Given the description of an element on the screen output the (x, y) to click on. 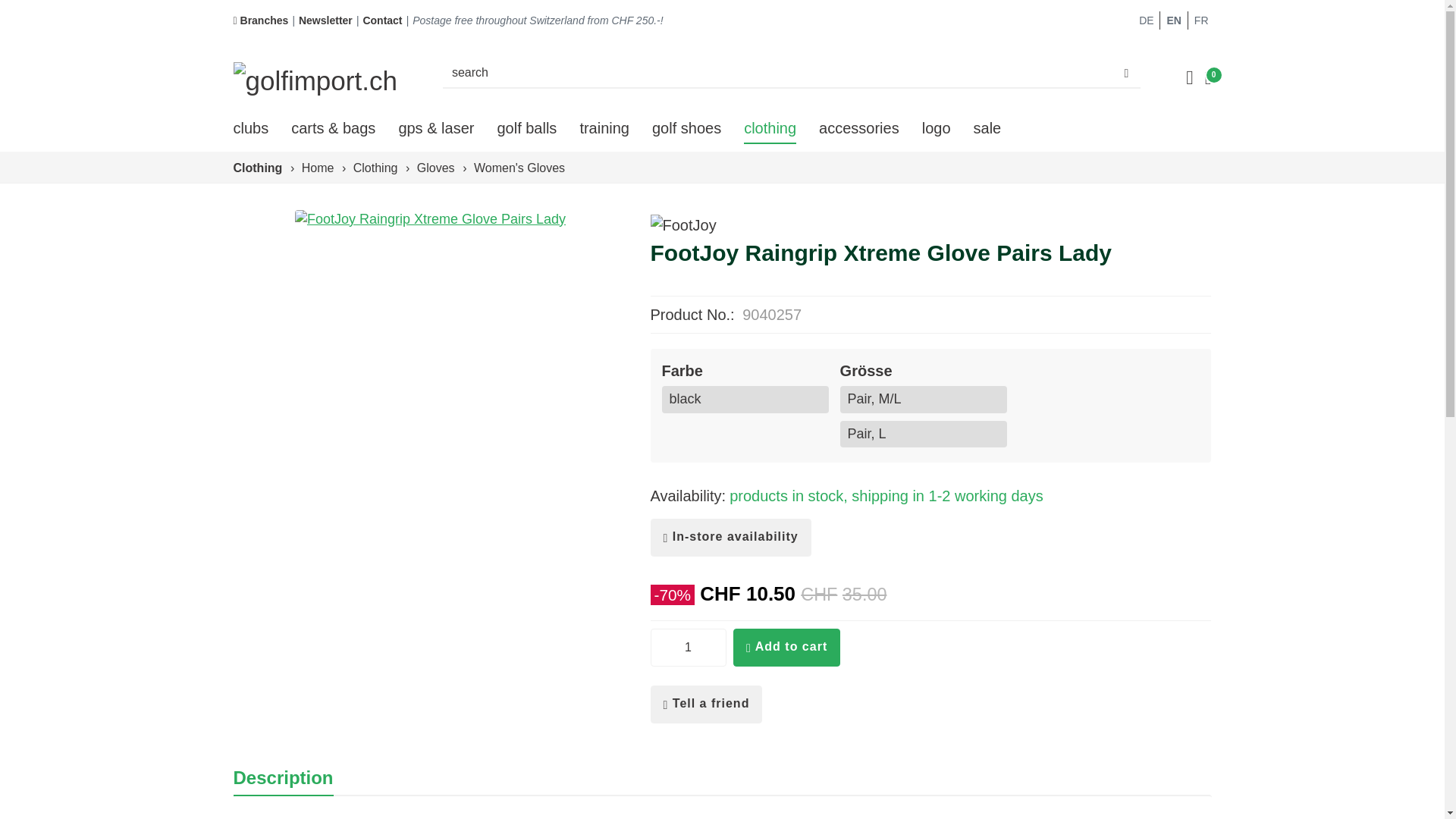
Branches (260, 20)
Click to see details (430, 219)
DE (1147, 20)
Quantity (688, 647)
Contact (381, 20)
FR (1199, 20)
Newsletter (325, 20)
EN (1170, 20)
1 (688, 647)
